Given the description of an element on the screen output the (x, y) to click on. 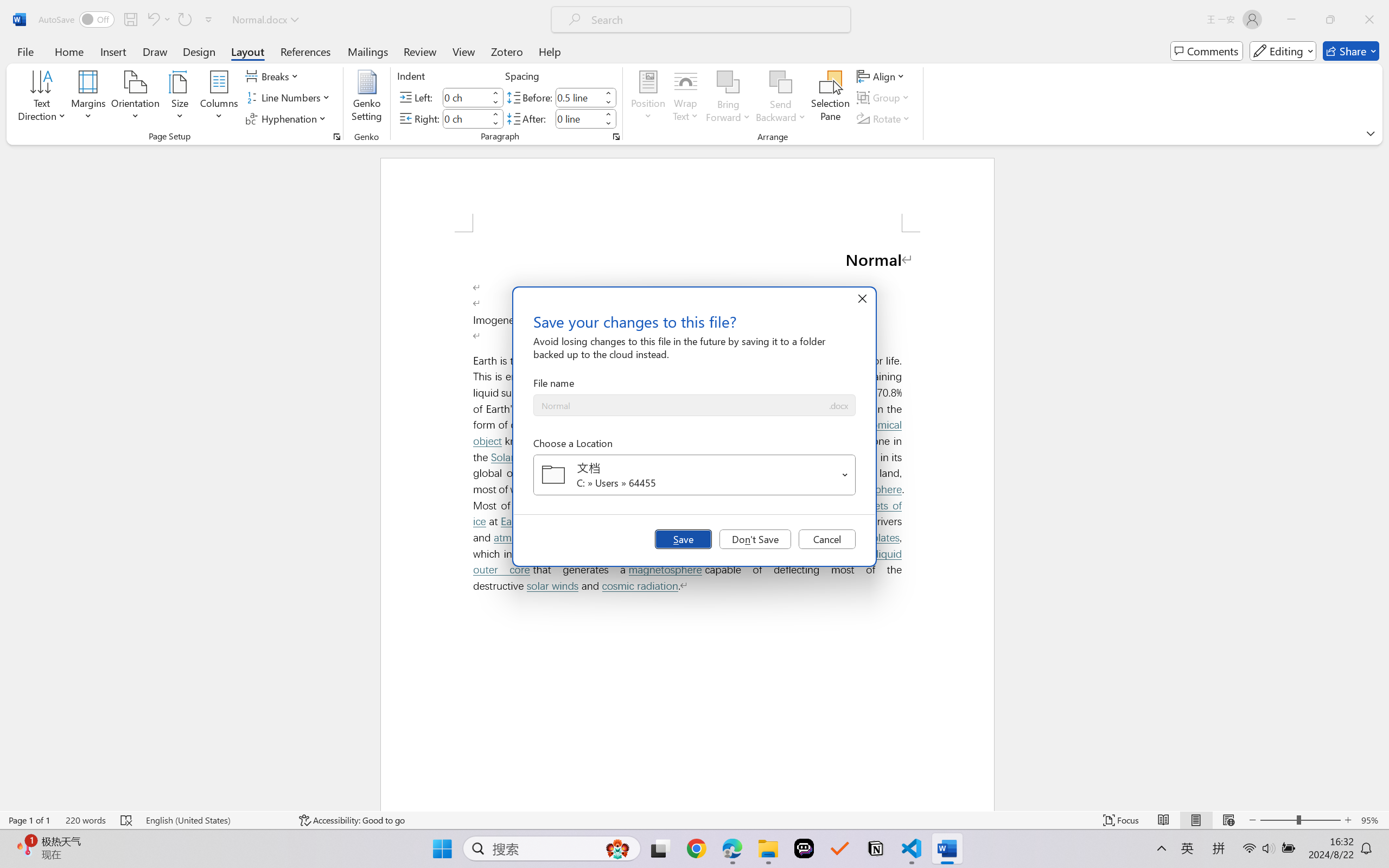
Indent Right (465, 118)
Group (884, 97)
Poe (804, 848)
Class: NetUIScrollBar (1382, 477)
